Given the description of an element on the screen output the (x, y) to click on. 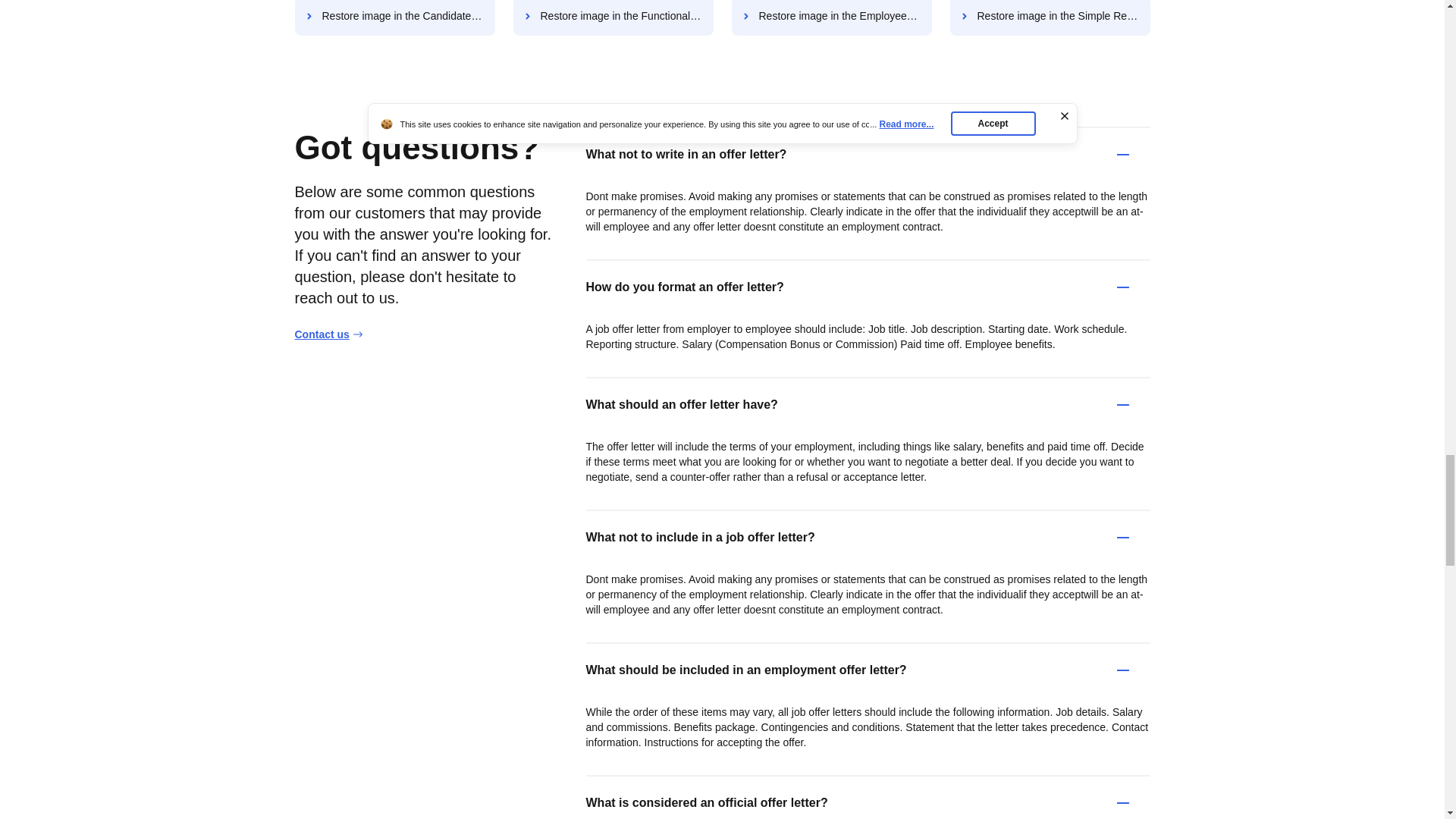
Restore image in the Candidate Resume (394, 18)
Restore image in the Employee Termination Checklist (830, 18)
Restore image in the Simple Resume (1049, 18)
Restore image in the Functional Application (612, 18)
Contact us (328, 334)
